Given the description of an element on the screen output the (x, y) to click on. 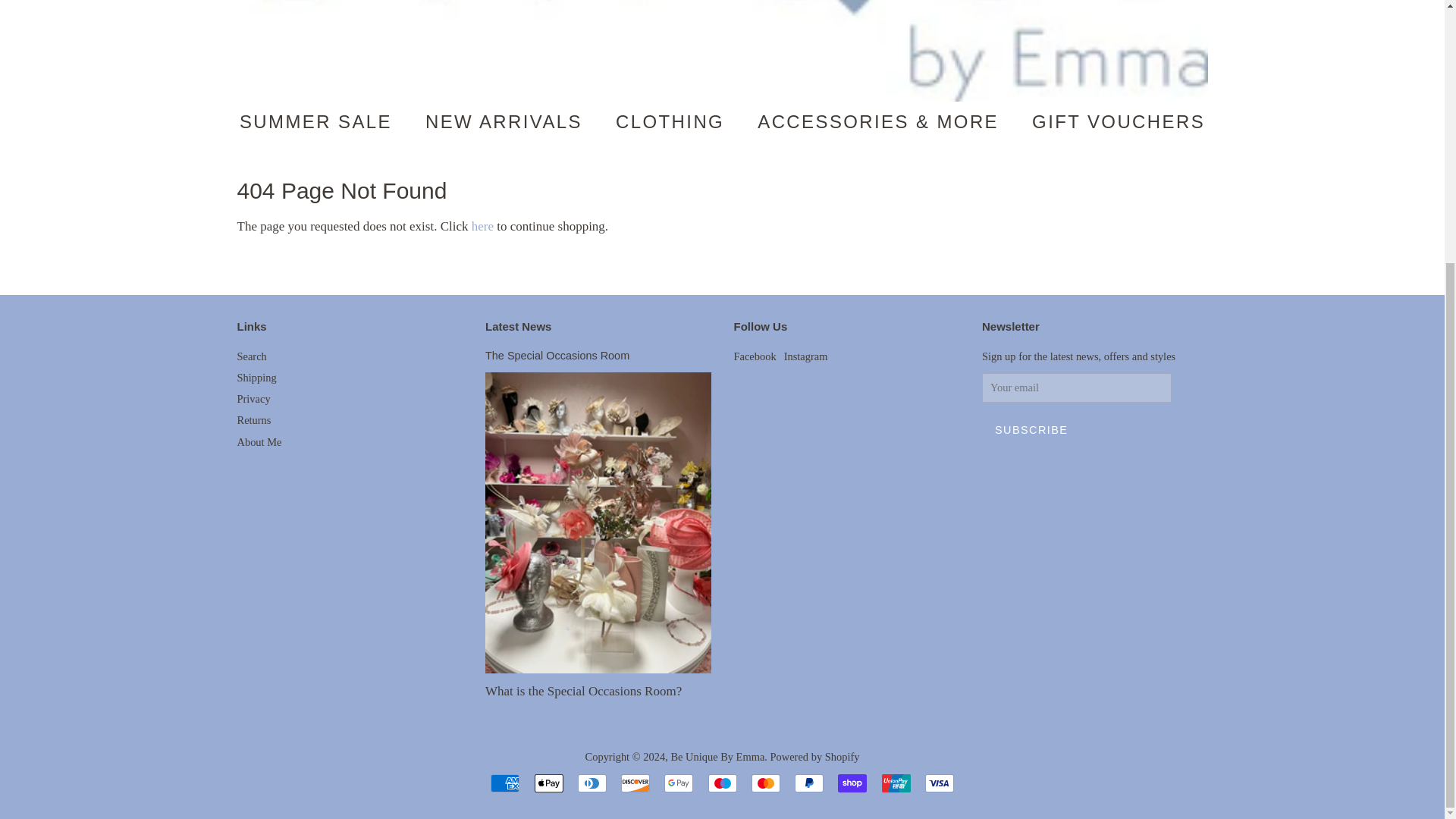
American Express (504, 782)
Be Unique By Emma on Instagram (806, 356)
Maestro (721, 782)
Union Pay (895, 782)
Apple Pay (548, 782)
Mastercard (765, 782)
Visa (938, 782)
Discover (635, 782)
Be Unique By Emma on Facebook (754, 356)
Google Pay (678, 782)
Subscribe (1030, 429)
Diners Club (592, 782)
PayPal (809, 782)
Shop Pay (852, 782)
